Given the description of an element on the screen output the (x, y) to click on. 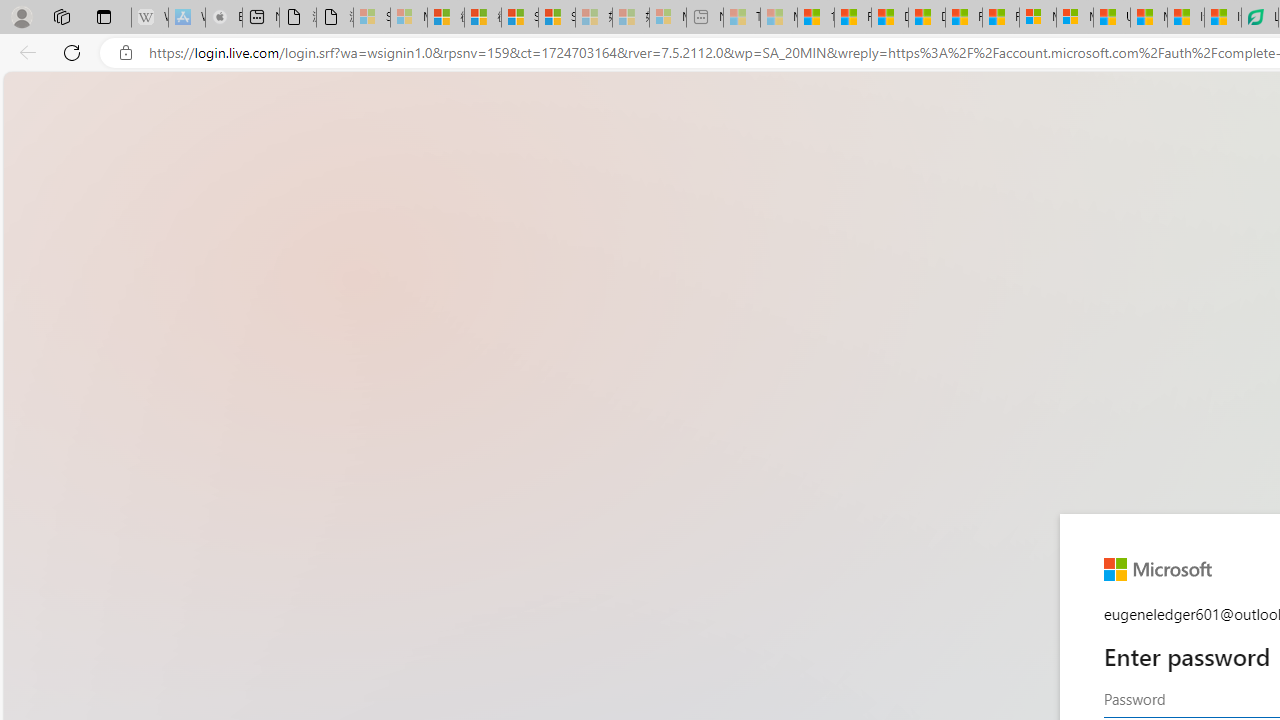
Foo BAR | Trusted Community Engagement and Contributions (1000, 17)
Marine life - MSN - Sleeping (779, 17)
